Given the description of an element on the screen output the (x, y) to click on. 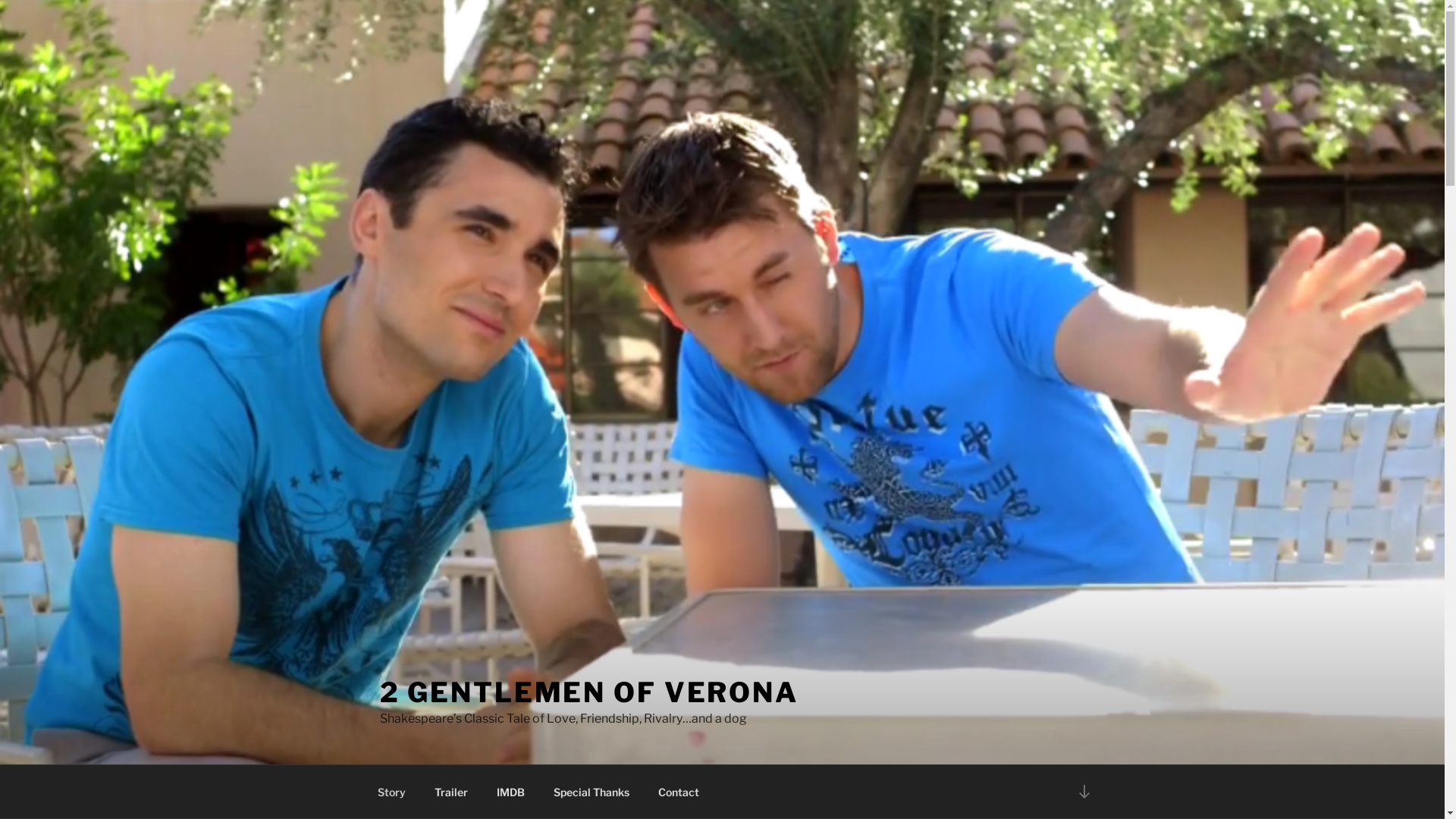
2 GENTLEMEN OF VERONA Element type: text (588, 692)
Story Element type: text (391, 791)
Scroll down to content Element type: text (1083, 790)
Contact Element type: text (678, 791)
Skip to content Element type: text (0, 0)
Special Thanks Element type: text (590, 791)
IMDB Element type: text (510, 791)
Trailer Element type: text (451, 791)
